Given the description of an element on the screen output the (x, y) to click on. 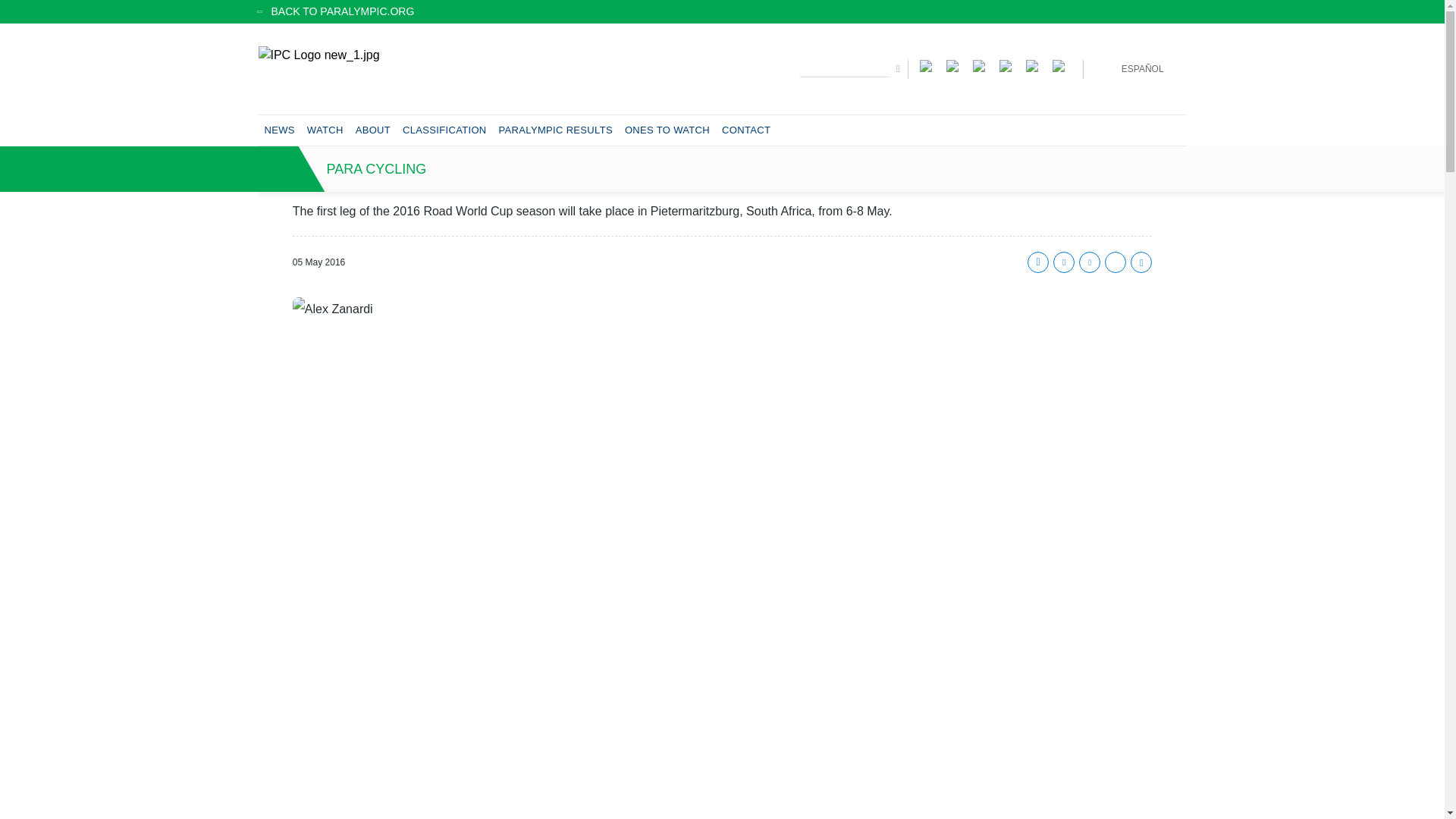
Facebook (929, 64)
Twitter (981, 64)
NEWS (278, 129)
BACK TO PARALYMPIC.ORG (721, 11)
Twitter (981, 64)
TikTok (1035, 64)
Newsletter Subscribe (1061, 64)
Linkedin (1115, 261)
CLASSIFICATION (444, 129)
Newsletter Subscribe (1061, 64)
TikTok (1035, 64)
PARA CYCLING (721, 168)
Twitter (1063, 261)
Email (1089, 261)
